Given the description of an element on the screen output the (x, y) to click on. 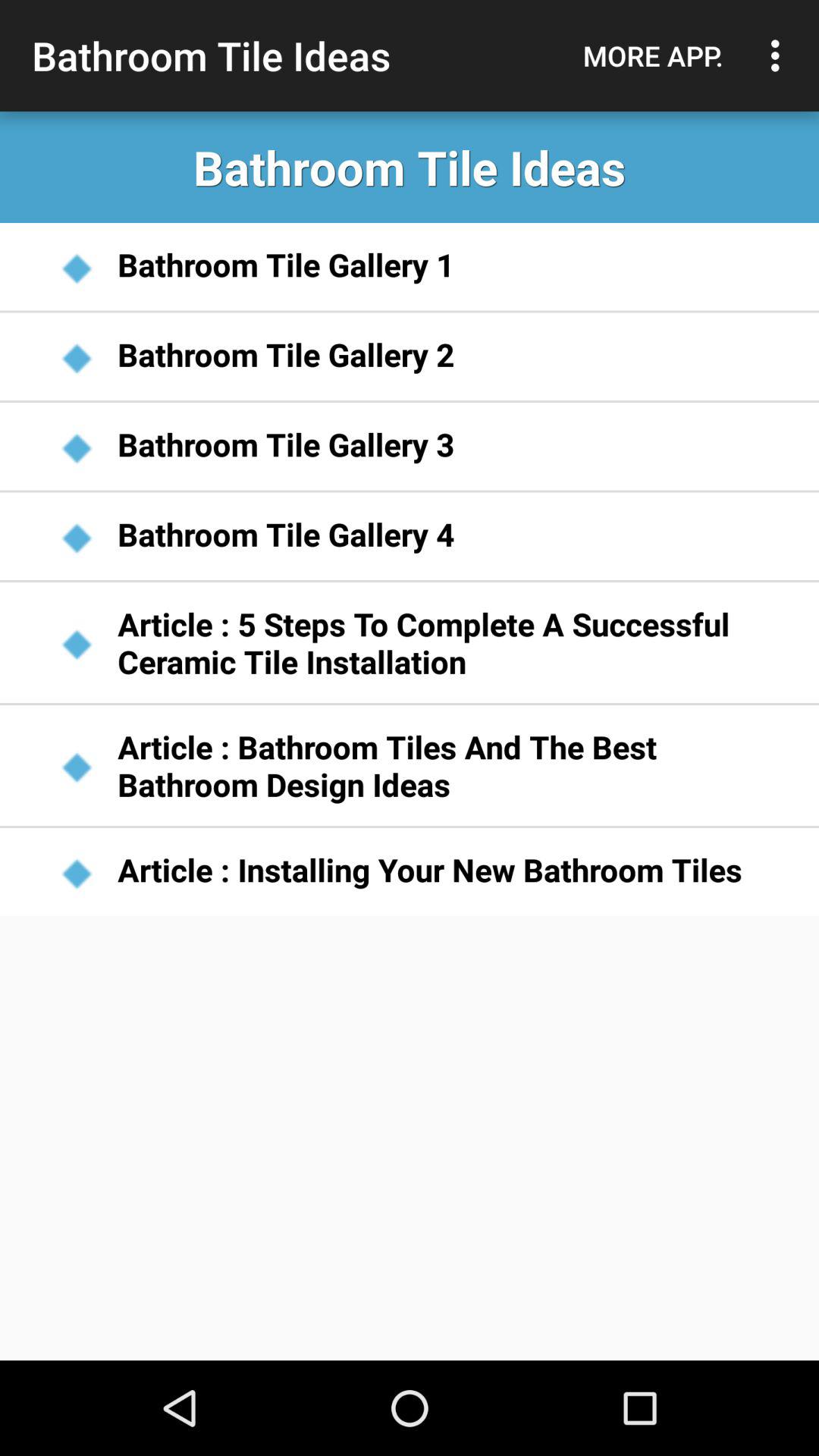
open more app. item (653, 55)
